Given the description of an element on the screen output the (x, y) to click on. 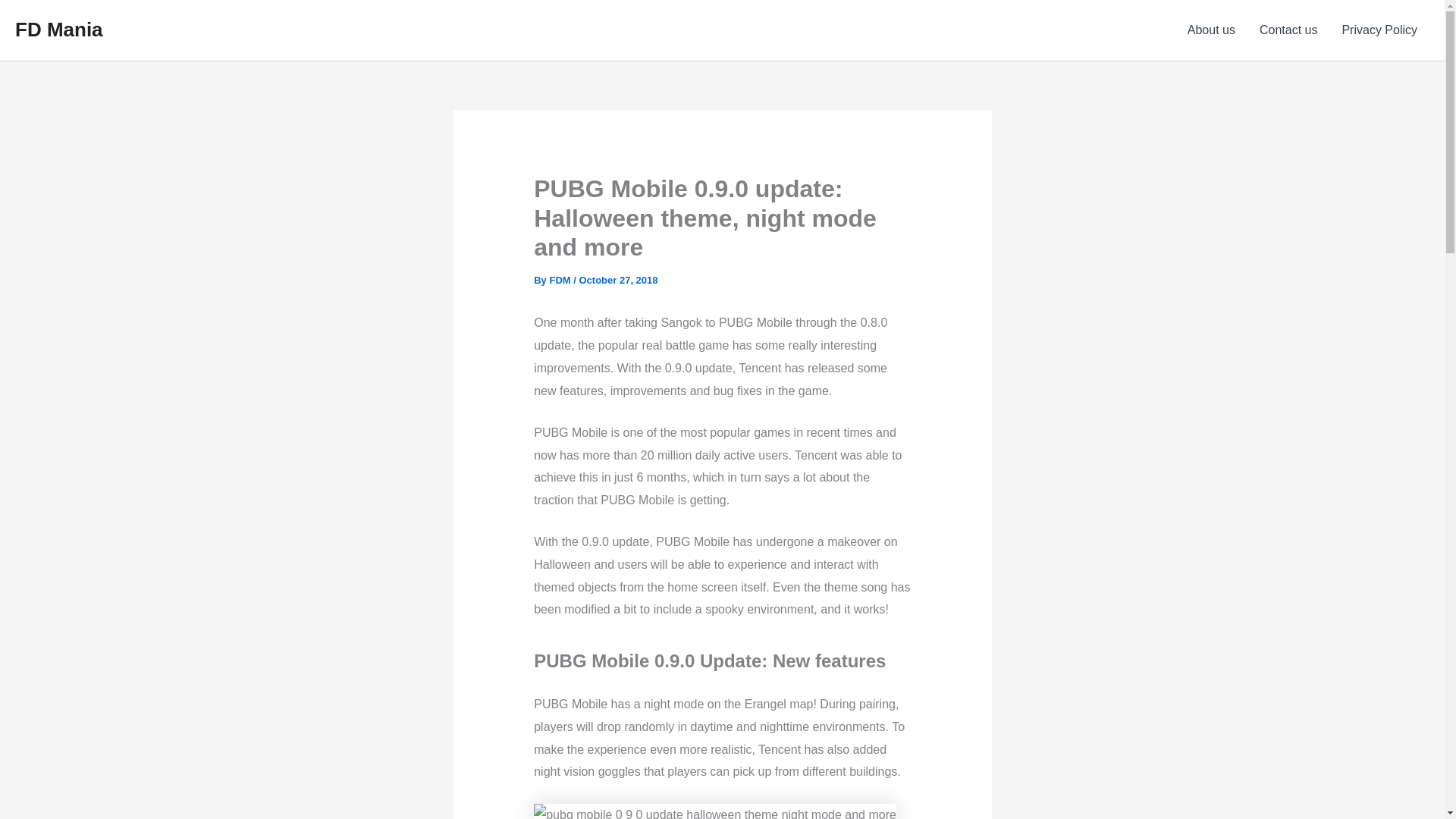
Contact us (1288, 30)
About us (1210, 30)
Privacy Policy (1379, 30)
View all posts by FDM (559, 279)
FD Mania (58, 29)
FDM (559, 279)
